Given the description of an element on the screen output the (x, y) to click on. 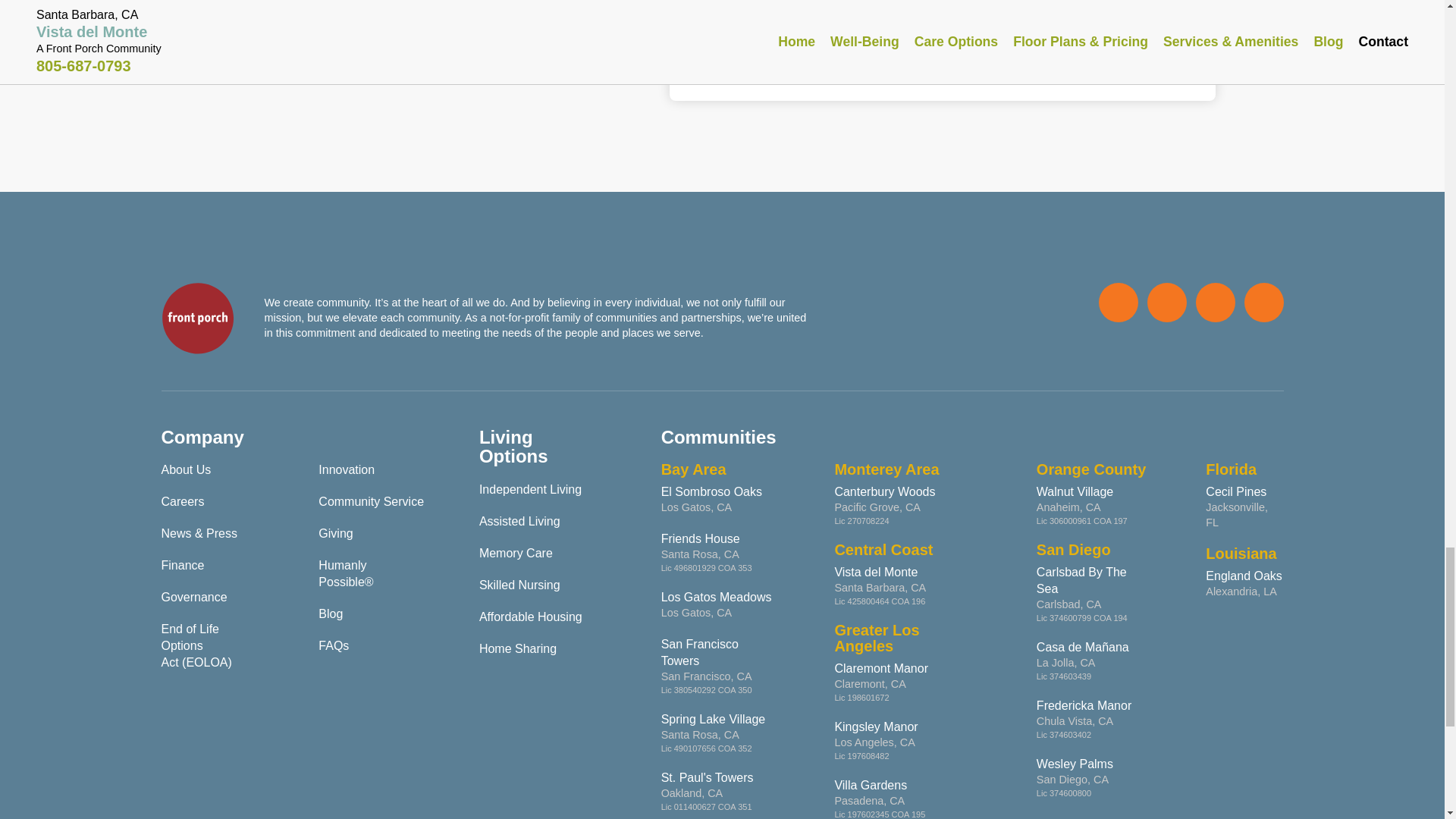
Volunteer Application (767, 65)
Governance (193, 596)
About Us (185, 469)
Finance (181, 564)
Careers (181, 501)
Innovation (346, 469)
